Given the description of an element on the screen output the (x, y) to click on. 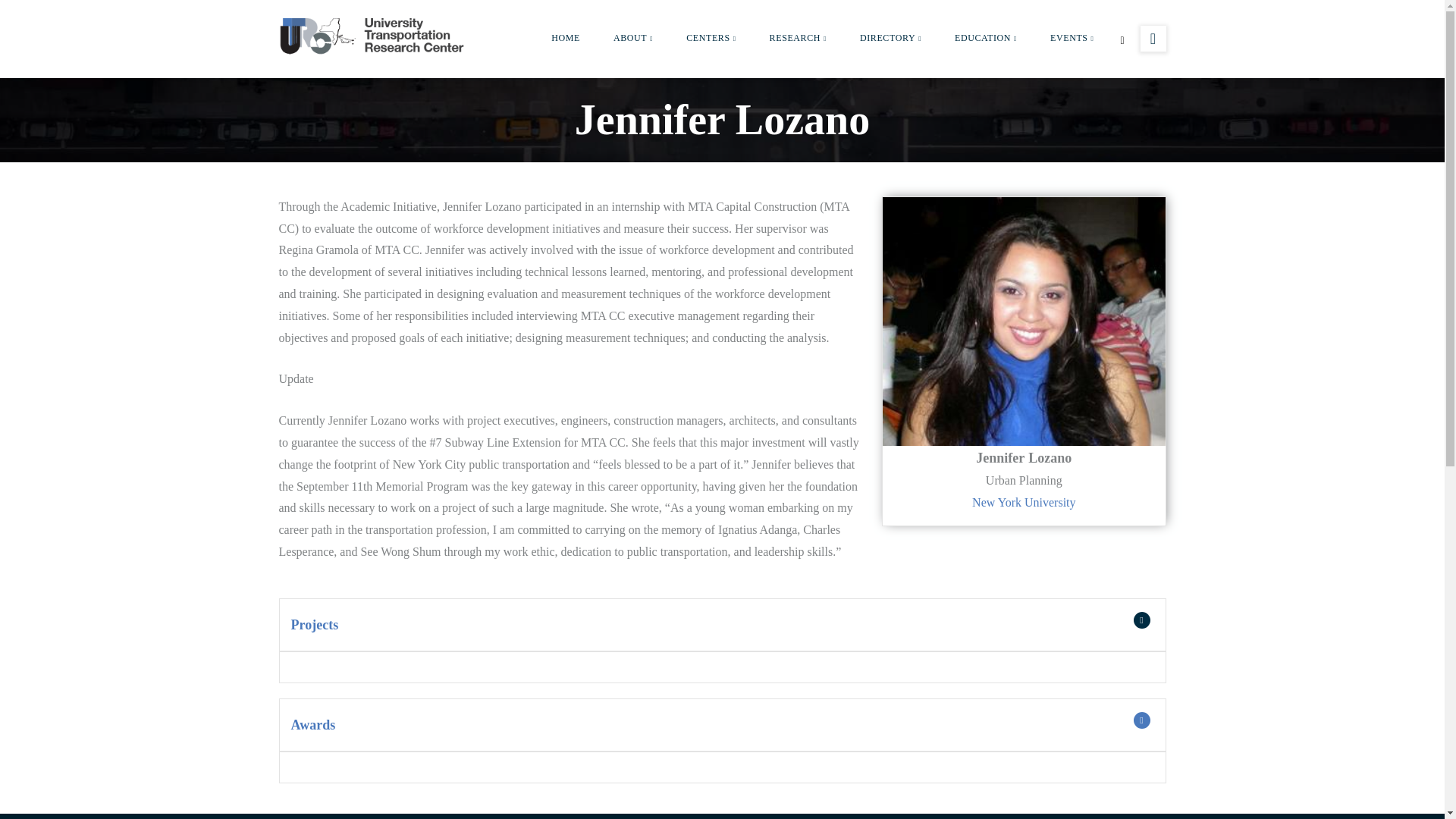
EDUCATION (985, 38)
DIRECTORY (890, 38)
Jennifer Lozano (1023, 321)
ABOUT (633, 38)
RESEARCH (797, 38)
CENTERS (711, 38)
Home (373, 35)
